Given the description of an element on the screen output the (x, y) to click on. 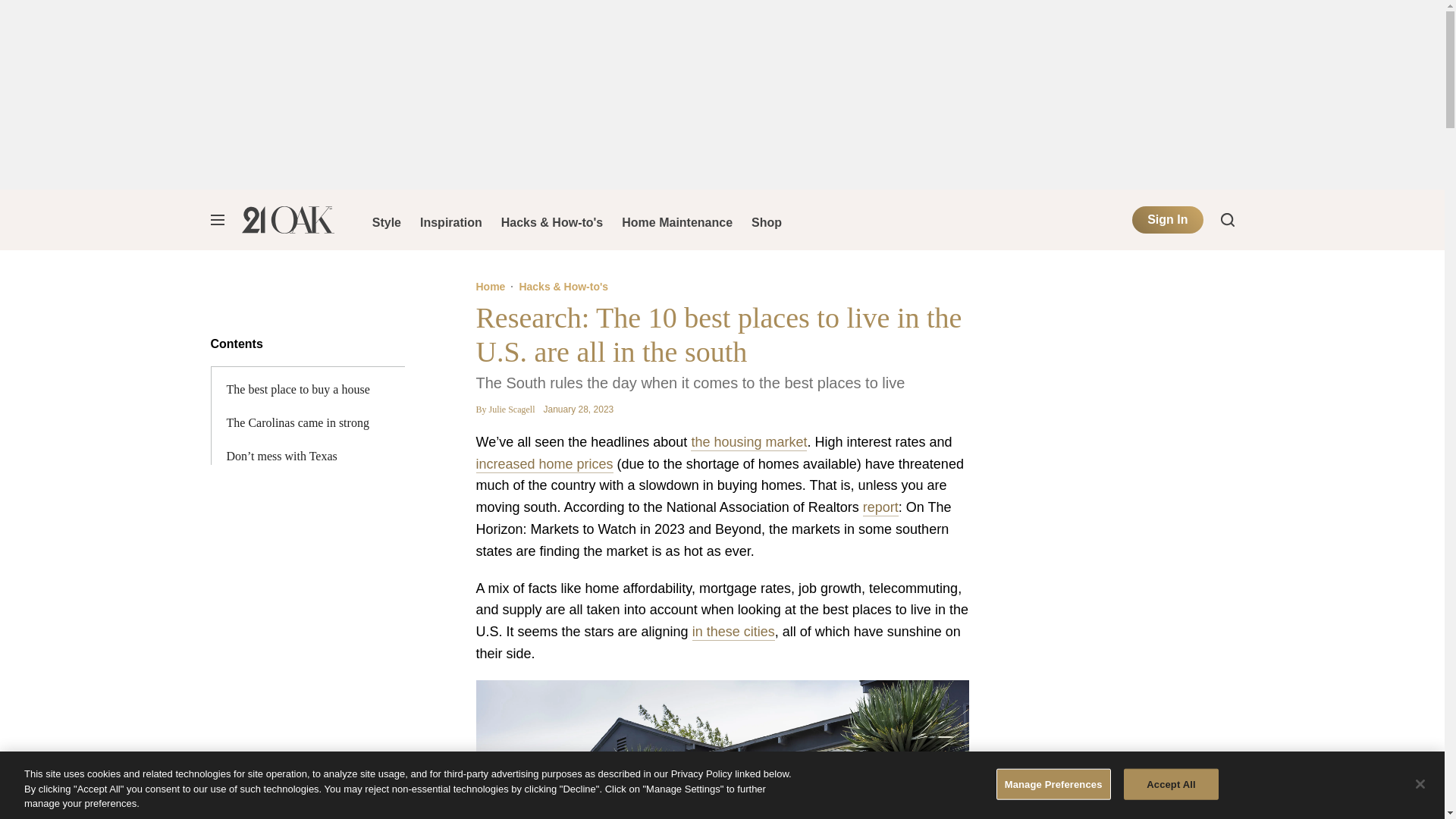
Inspiration (450, 219)
Home Maintenance (676, 219)
3rd party ad content (721, 94)
3rd party ad content (1120, 658)
3rd party ad content (721, 785)
Sign In (1167, 219)
